Given the description of an element on the screen output the (x, y) to click on. 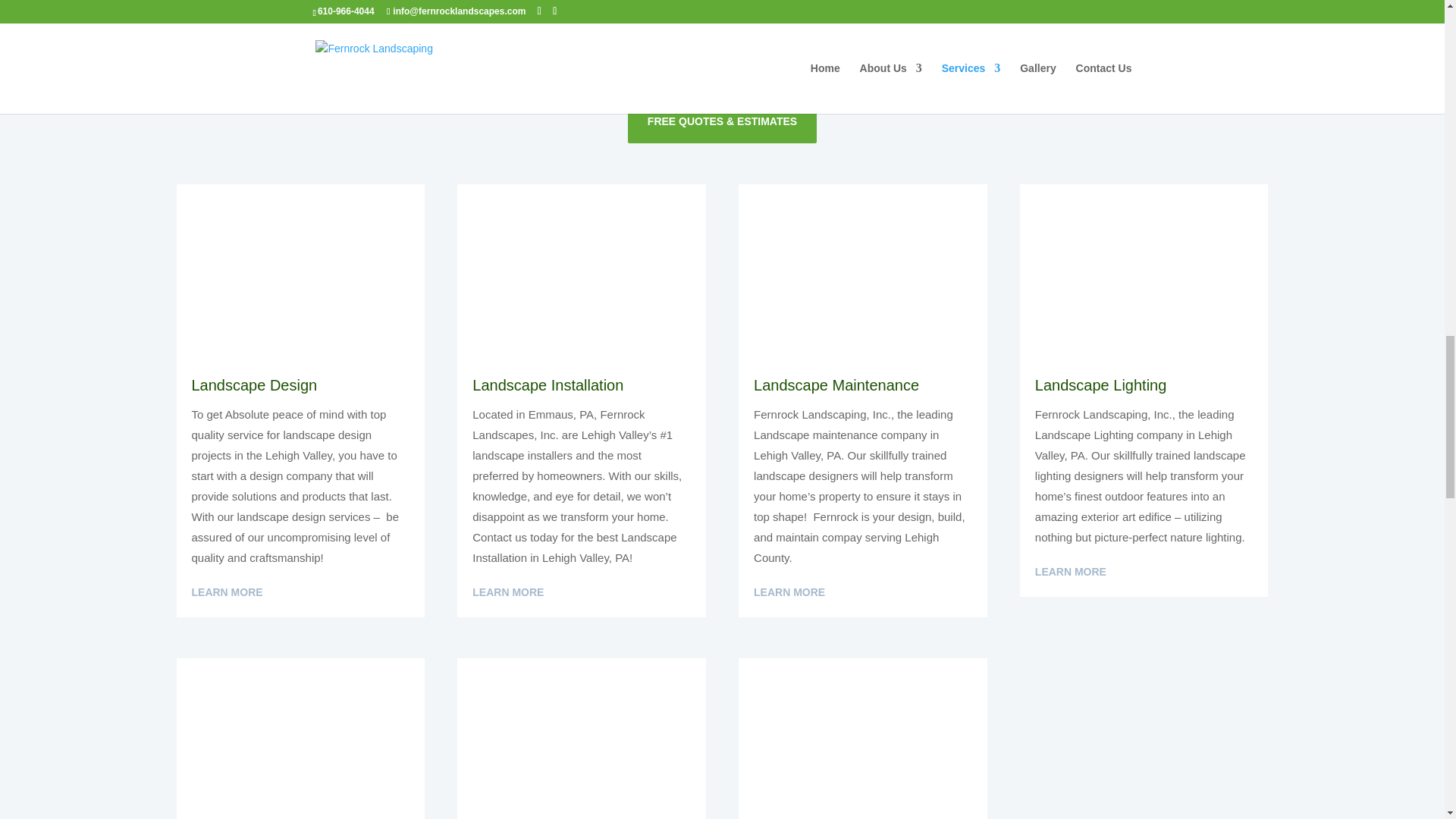
Landscape Design (300, 266)
Landscape Lighting Installation (1144, 266)
Outdoor Kitchen (300, 738)
Walkway Installation (862, 738)
LEARN MORE (789, 592)
Landscape Design (862, 266)
LEARN MORE (1070, 572)
Paver Patio Design (581, 738)
Fire Pit Design (1144, 738)
LEARN MORE (226, 592)
Landscape Installation (581, 266)
LEARN MORE (507, 592)
